Given the description of an element on the screen output the (x, y) to click on. 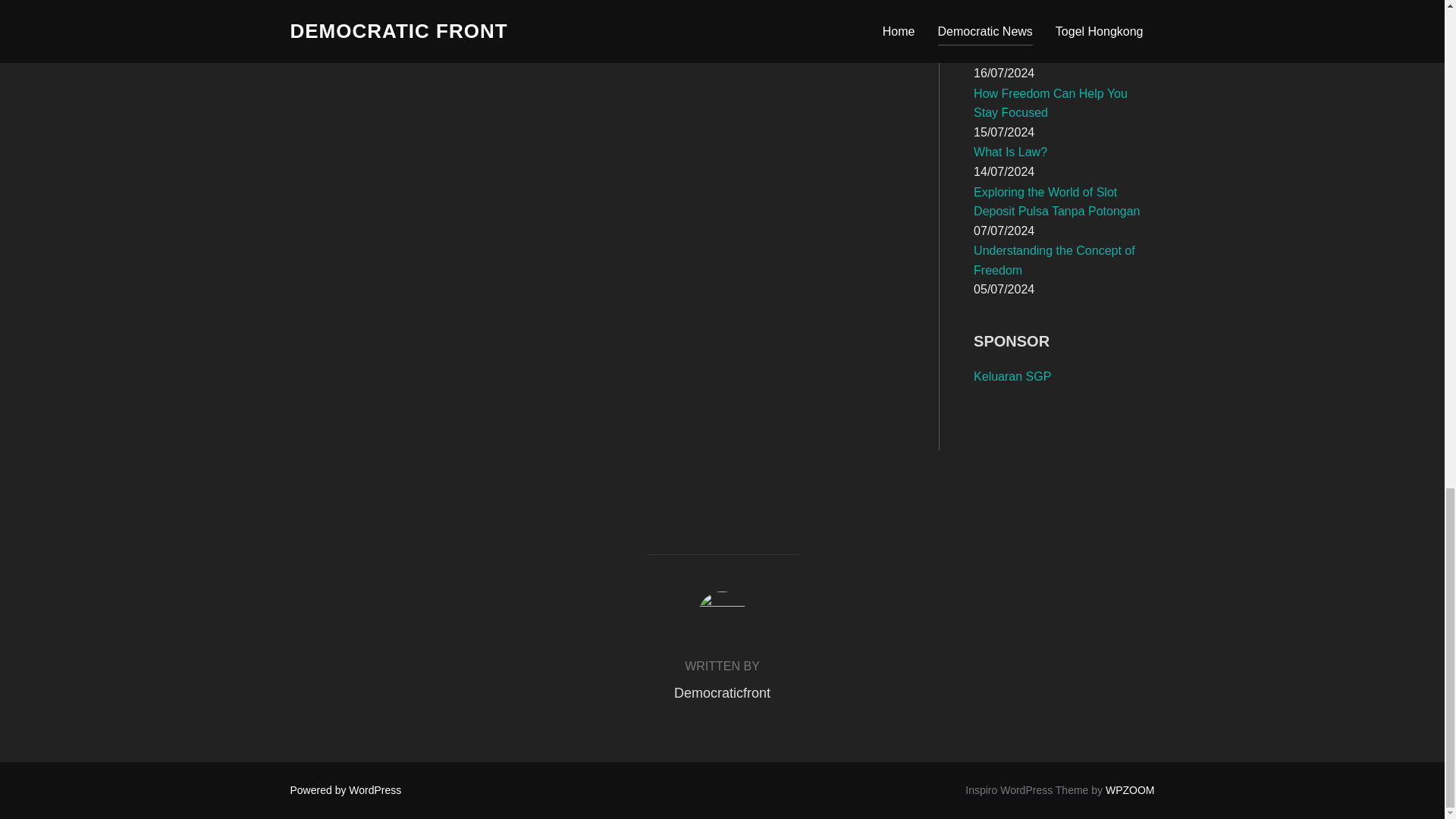
Posts by Democraticfront (722, 693)
